Given the description of an element on the screen output the (x, y) to click on. 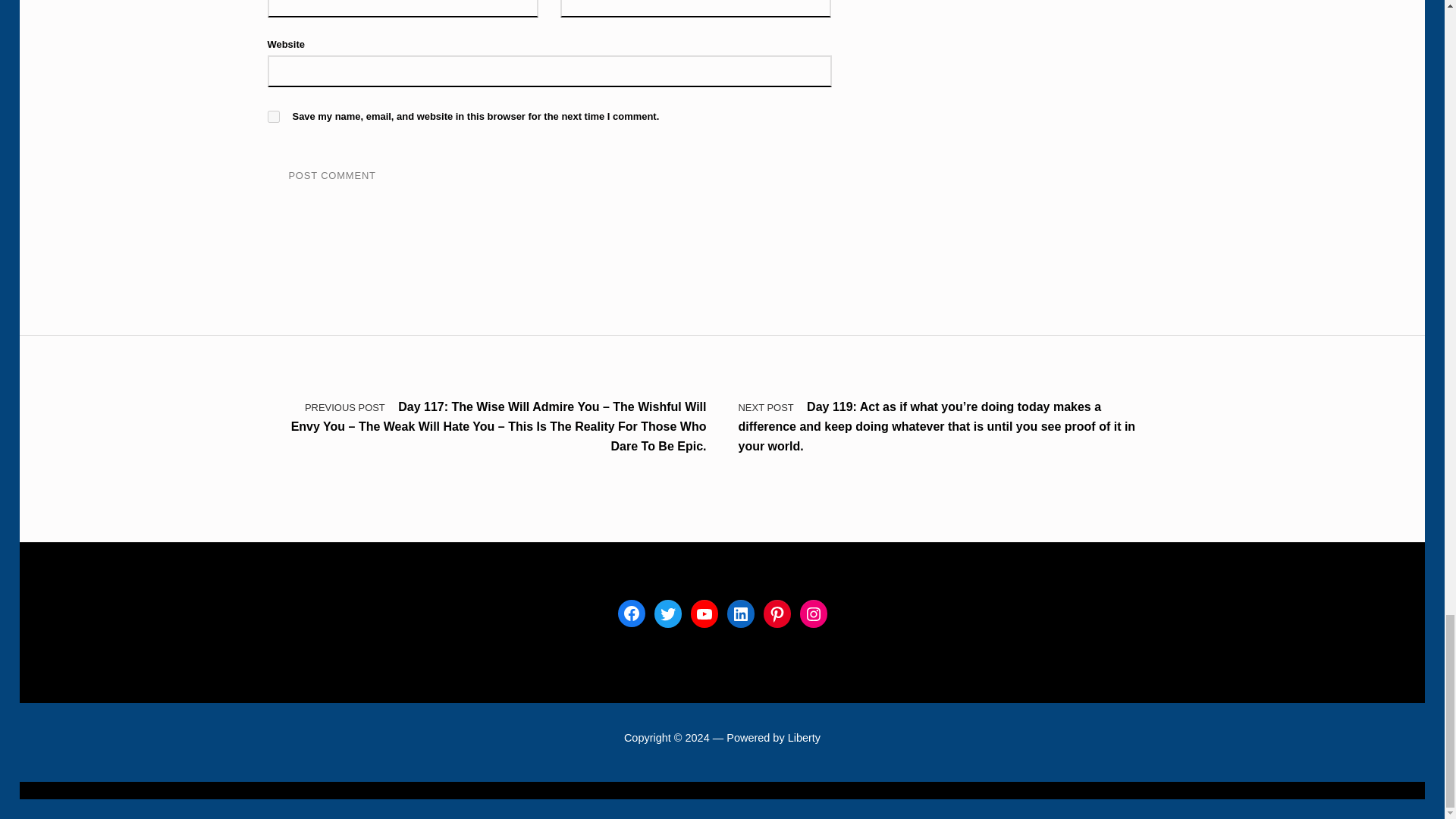
Post Comment (331, 175)
Post Comment (331, 175)
yes (272, 116)
